Given the description of an element on the screen output the (x, y) to click on. 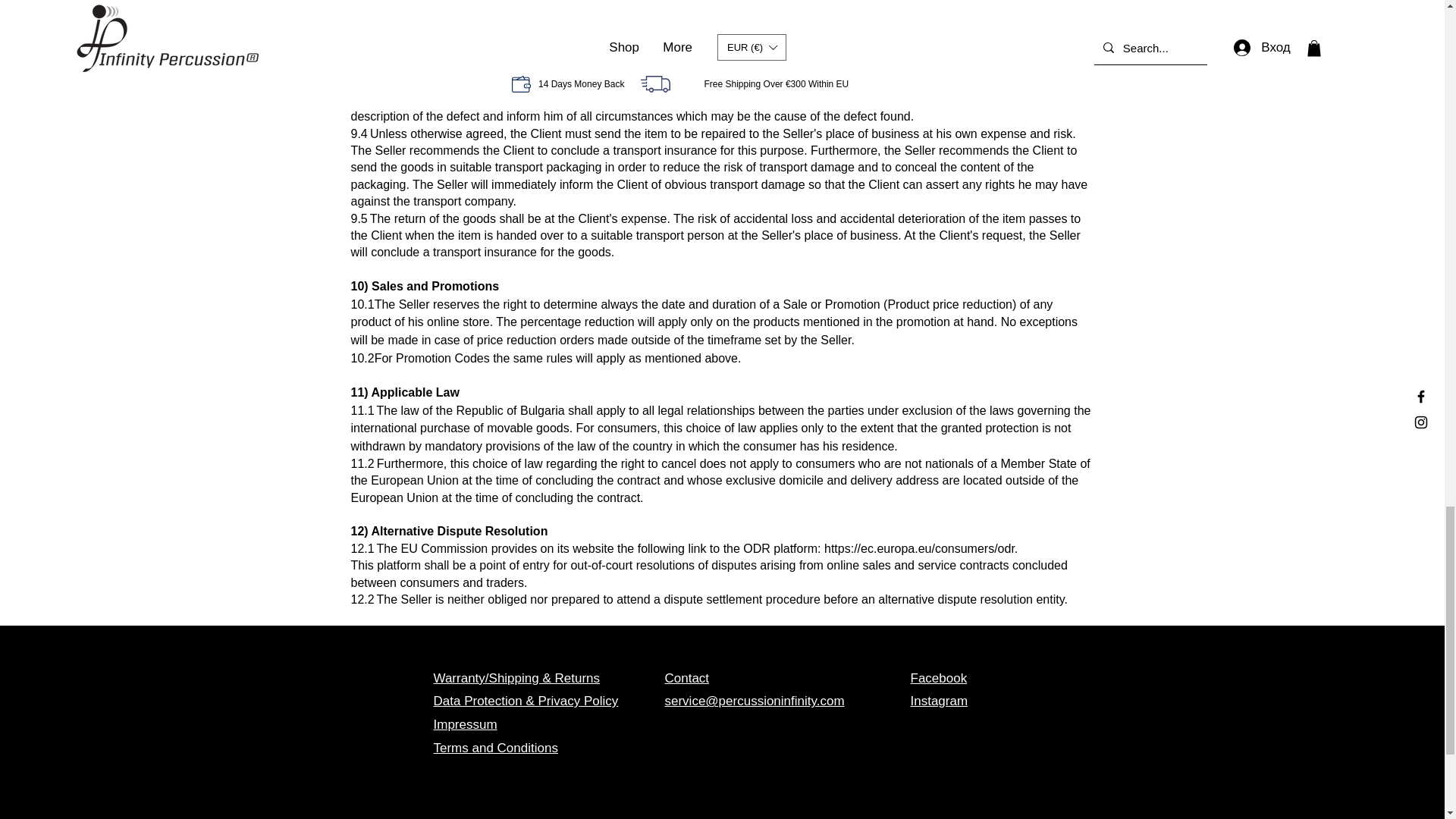
Terms and Conditions (495, 748)
Contact (686, 677)
Instagram (939, 700)
Facebook (938, 677)
Impressum (465, 724)
